Given the description of an element on the screen output the (x, y) to click on. 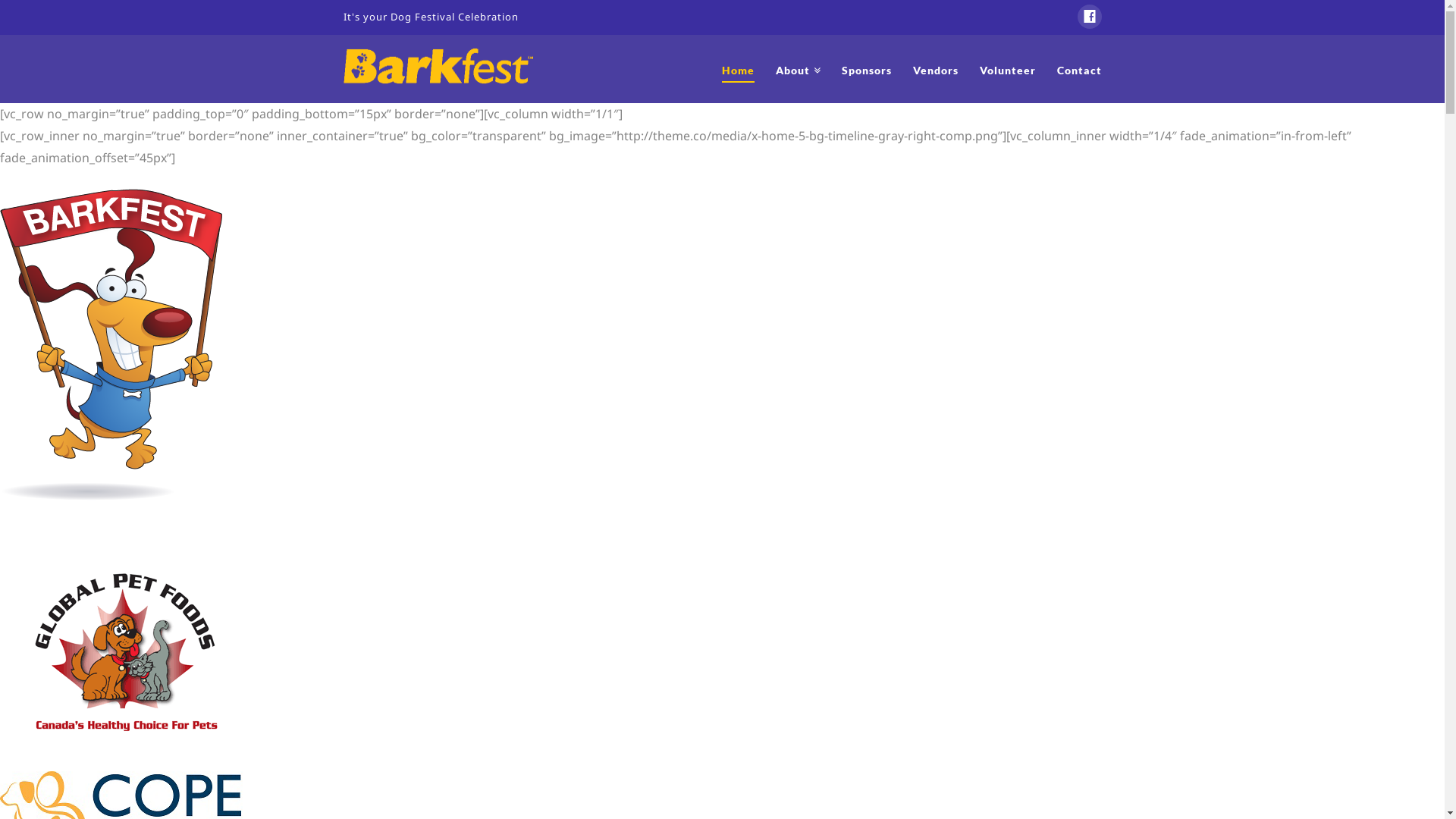
Volunteer Element type: text (1007, 70)
Sponsors Element type: text (866, 70)
Home Element type: text (737, 70)
About Element type: text (797, 70)
Vendors Element type: text (935, 70)
The Fall Festival for You & Your Dogs! Element type: hover (437, 63)
Contact Element type: text (1079, 70)
